Given the description of an element on the screen output the (x, y) to click on. 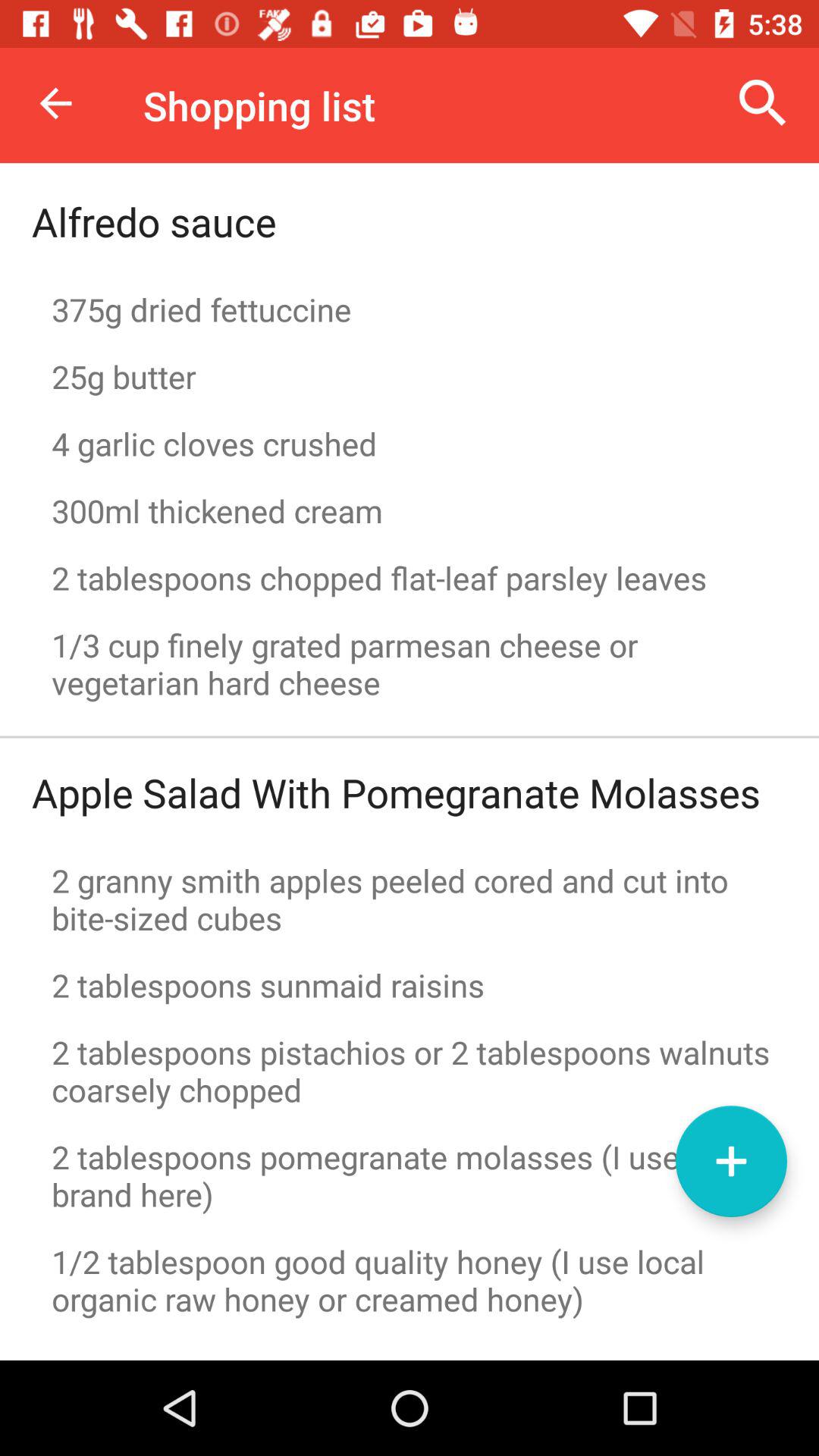
launch the icon above 1 2 tablespoon (731, 1161)
